Given the description of an element on the screen output the (x, y) to click on. 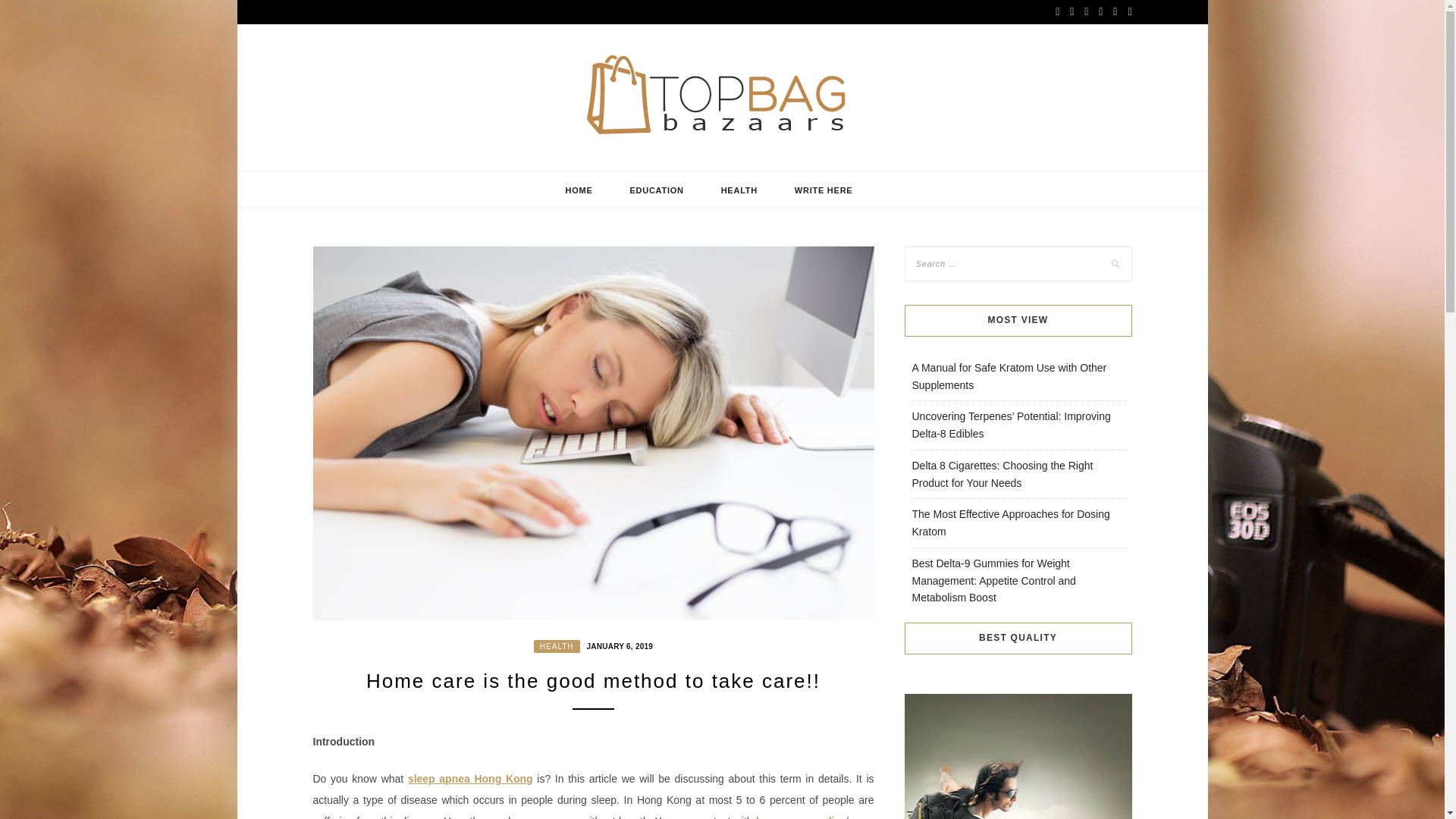
Search (28, 11)
sleep apnea Hong Kong (469, 778)
HEALTH (556, 645)
homecare-medical.com (815, 816)
JANUARY 6, 2019 (617, 645)
HEALTH (739, 190)
HOME (579, 190)
WRITE HERE (823, 190)
EDUCATION (656, 190)
A Manual for Safe Kratom Use with Other Supplements (1008, 376)
The Most Effective Approaches for Dosing Kratom (1010, 522)
